Given the description of an element on the screen output the (x, y) to click on. 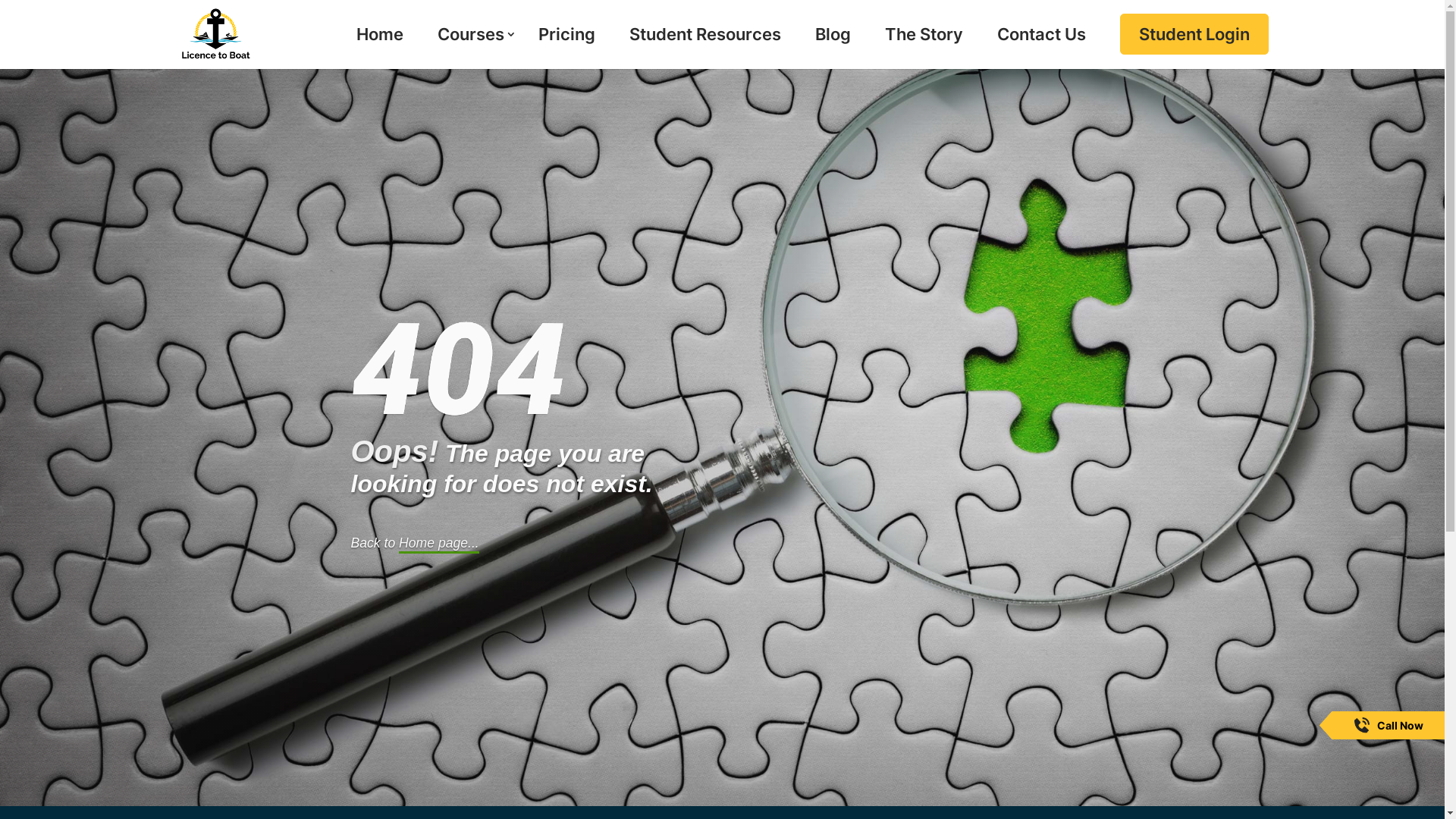
Courses Element type: text (469, 47)
Contact Us Element type: text (1040, 47)
Blog Element type: text (832, 47)
Student Resources Element type: text (705, 47)
Home page... Element type: text (438, 544)
The Story Element type: text (923, 47)
Call Now Element type: text (1400, 725)
Pricing Element type: text (566, 47)
Student Login Element type: text (1193, 47)
Home Element type: text (379, 47)
